Given the description of an element on the screen output the (x, y) to click on. 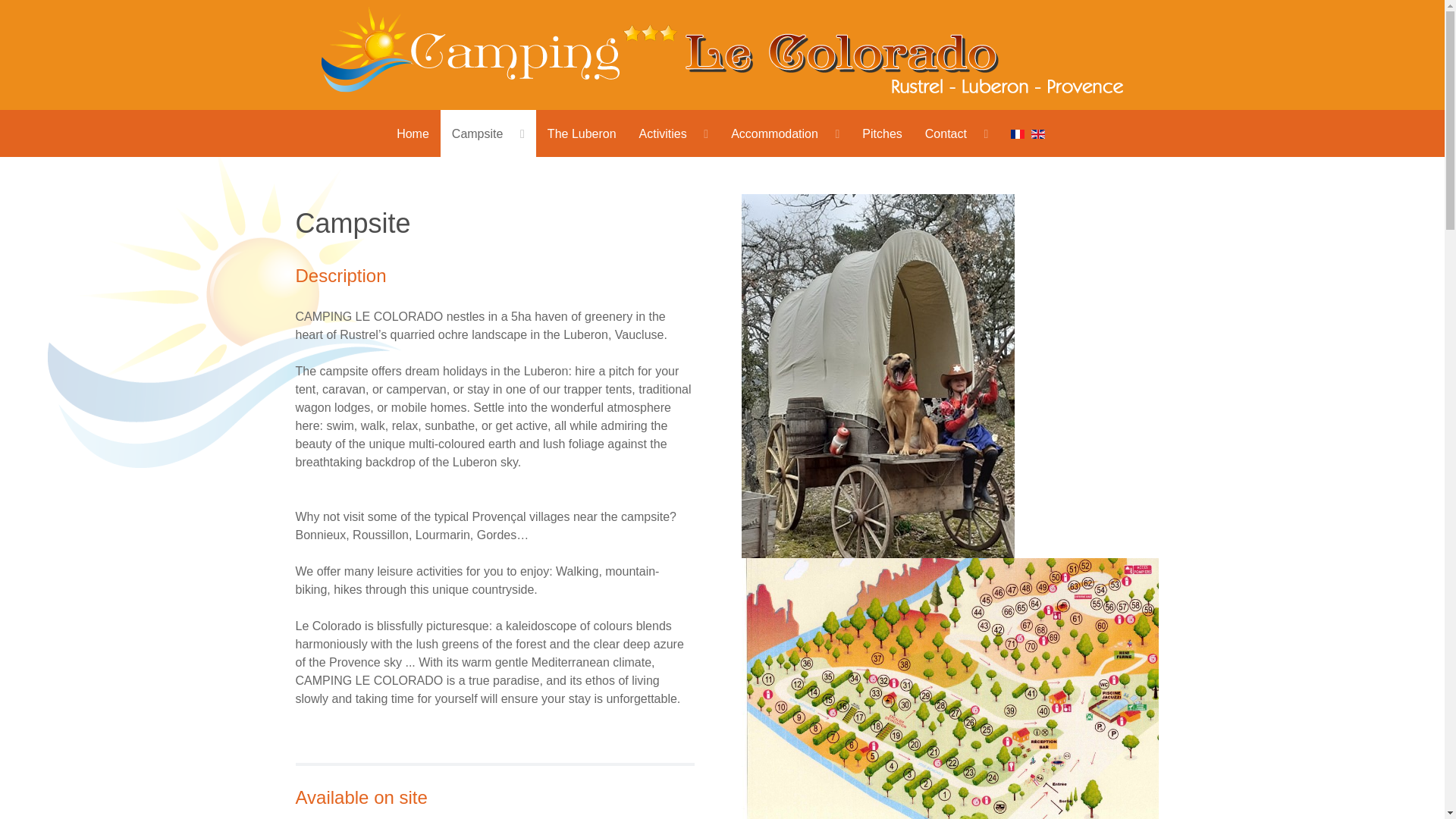
Home (413, 133)
The Luberon (581, 133)
